Given the description of an element on the screen output the (x, y) to click on. 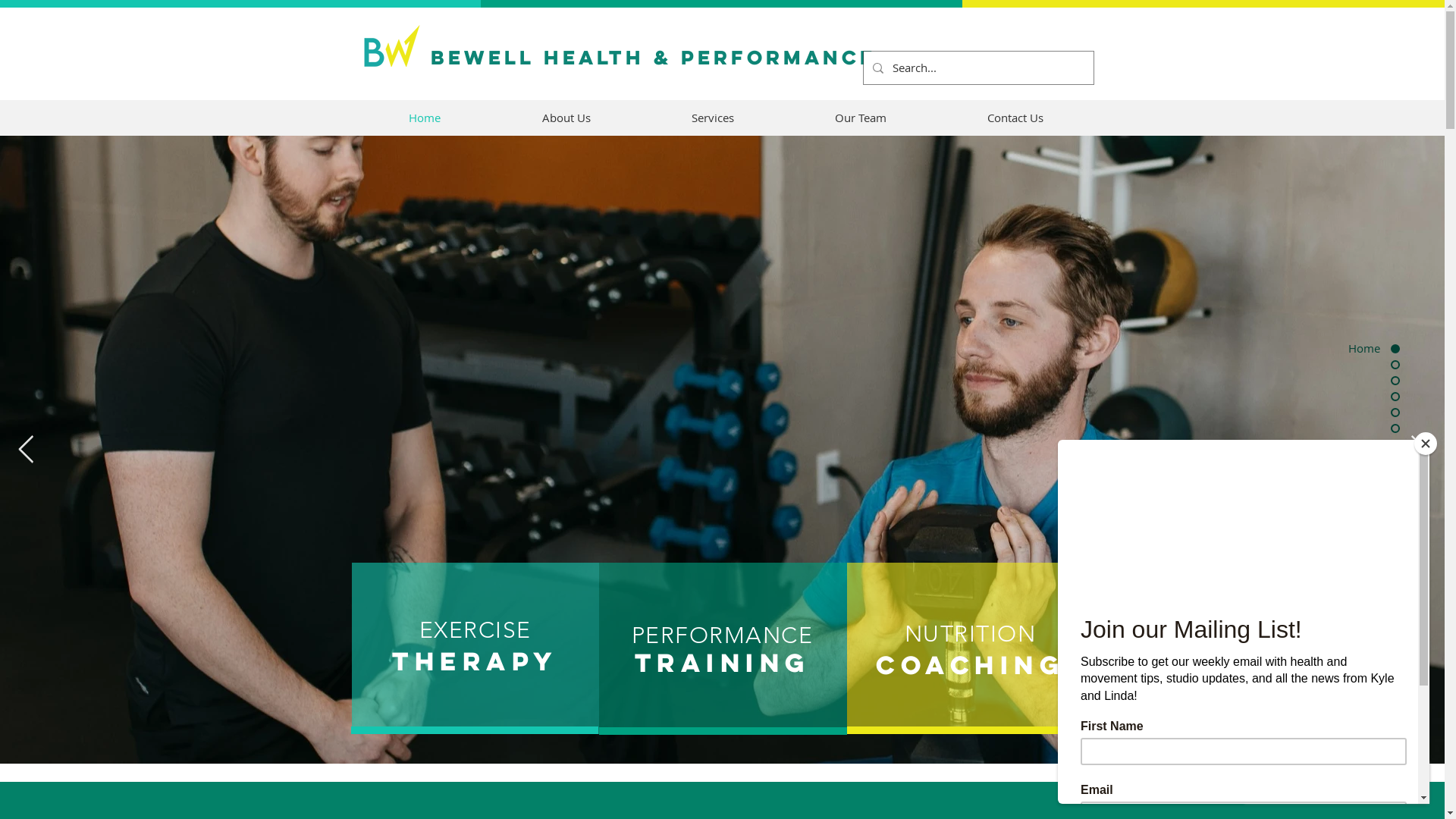
Services Element type: text (712, 117)
bewell health & performance Element type: text (652, 56)
Home Element type: text (1342, 348)
About Us Element type: text (566, 117)
Contact Us Element type: text (1015, 117)
Home Element type: text (424, 117)
Our Team Element type: text (860, 117)
